Given the description of an element on the screen output the (x, y) to click on. 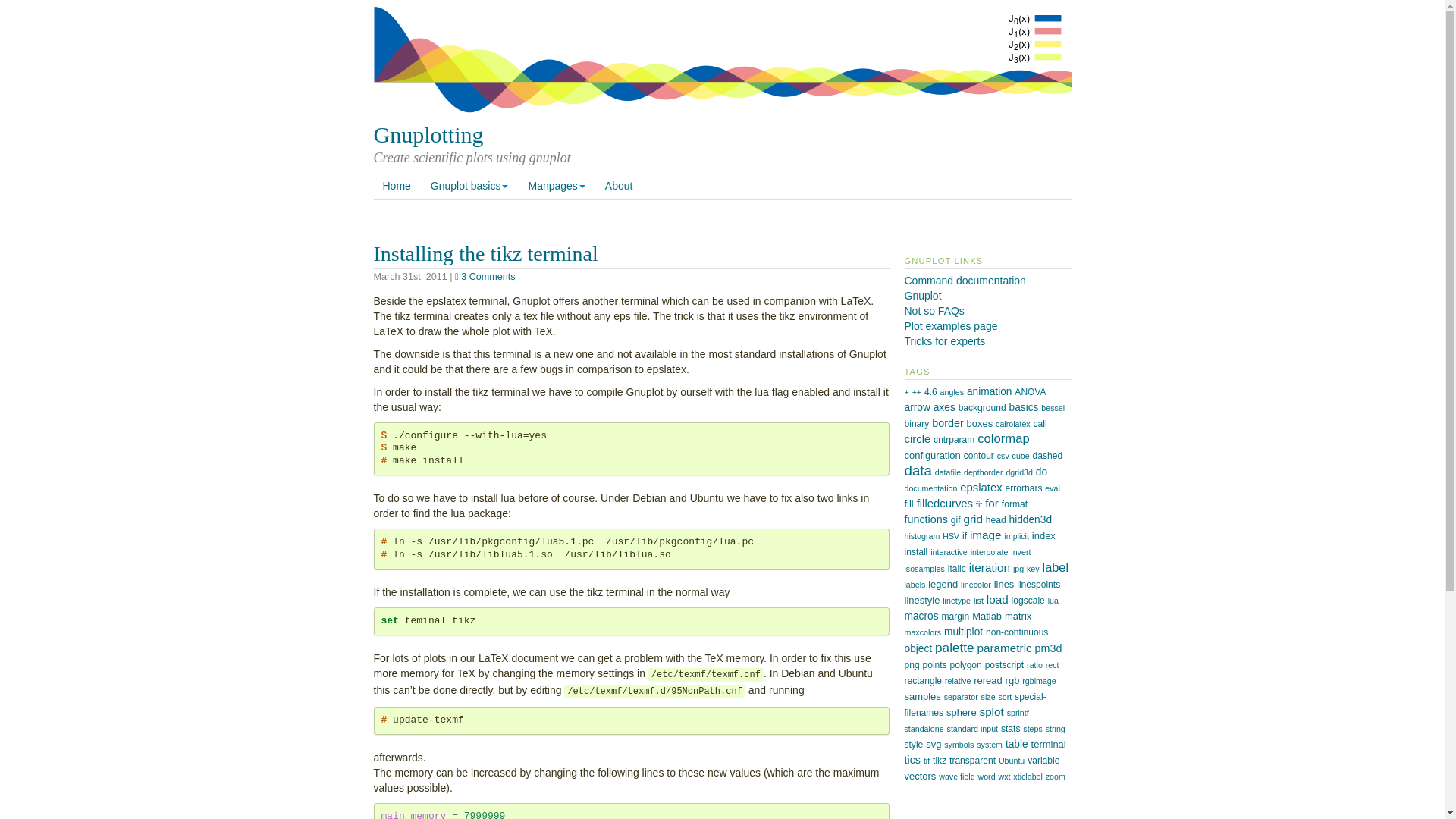
Very nice Gnuplot related site (933, 310)
4.6 (930, 391)
3 Comments (484, 276)
cntrparam (953, 439)
A BLOG about advanced plotting with Gnuplot (944, 340)
cairolatex (1012, 423)
binary (916, 423)
Plot examples page (950, 326)
Gnuplot basics (470, 185)
animation (988, 391)
